Given the description of an element on the screen output the (x, y) to click on. 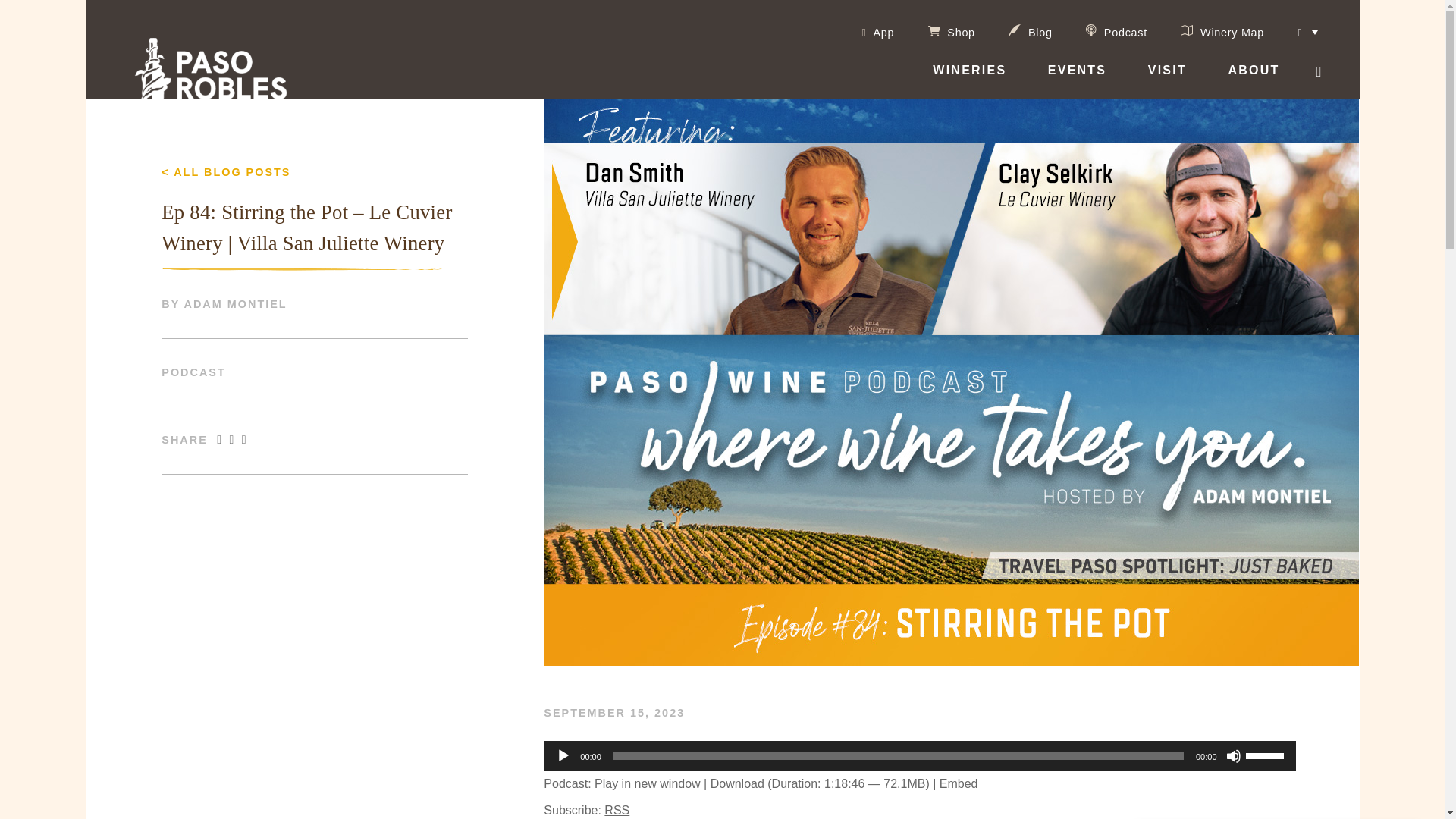
Embed (958, 783)
WINERIES (969, 79)
Mute (1232, 755)
Podcast (1115, 30)
RSS (616, 809)
Play in new window (647, 783)
Blog (1029, 30)
ABOUT (1253, 79)
Download (737, 783)
App (876, 32)
